Given the description of an element on the screen output the (x, y) to click on. 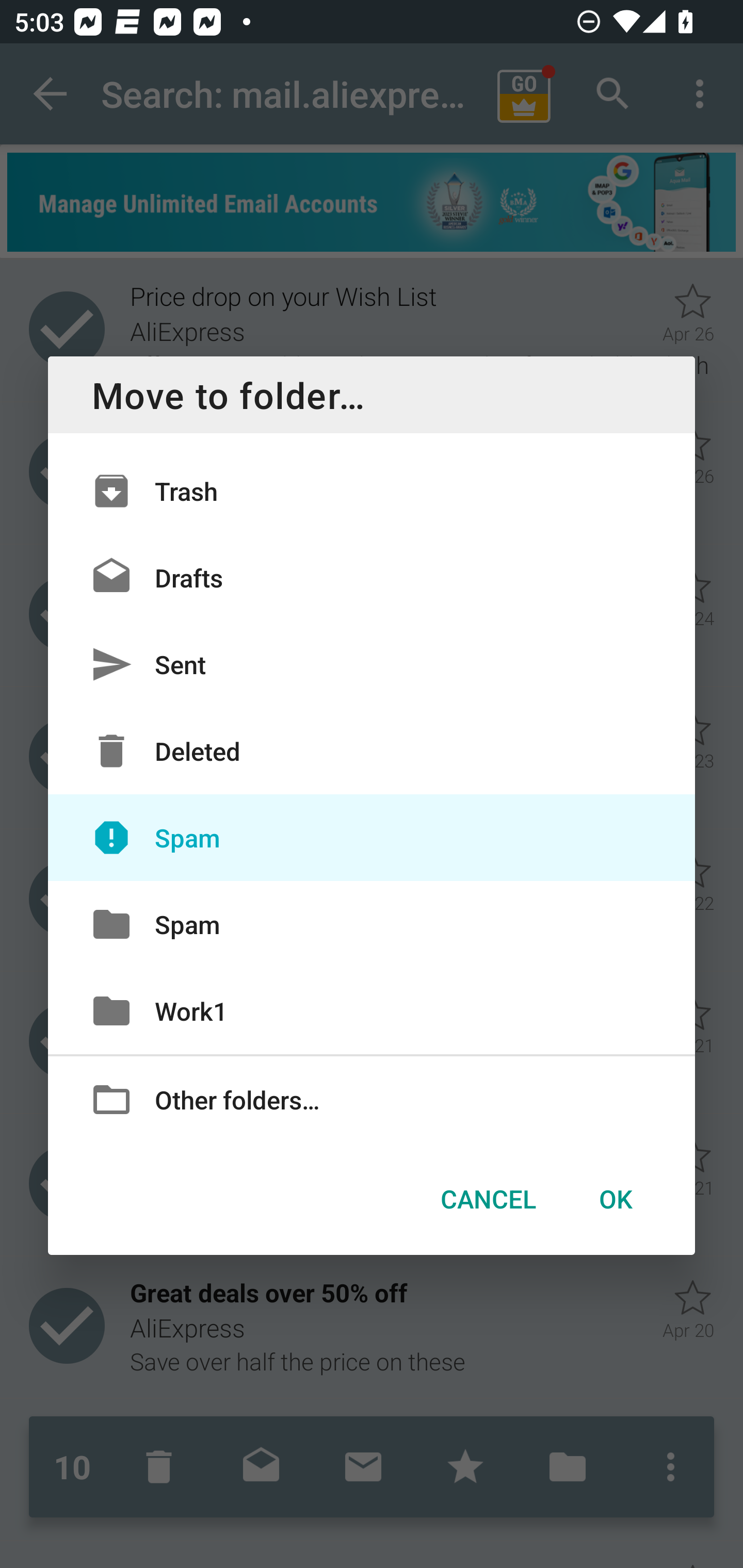
Trash (371, 491)
Drafts (371, 577)
Sent (371, 663)
Deleted (371, 750)
Spam (371, 837)
Spam (371, 924)
Work1 (371, 1010)
Other folders… (371, 1098)
CANCEL (488, 1199)
OK (615, 1199)
